Given the description of an element on the screen output the (x, y) to click on. 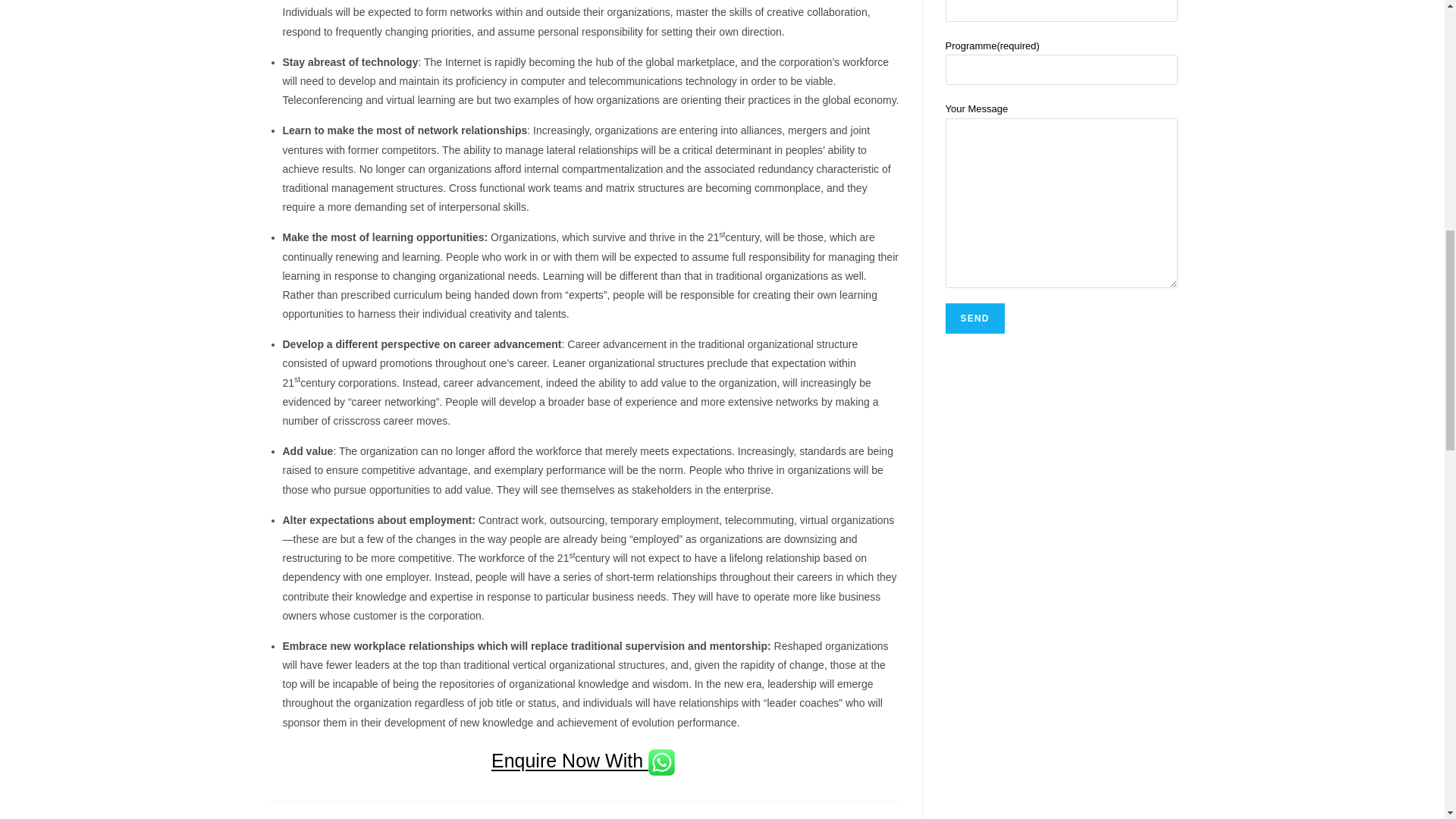
Send (974, 318)
